Given the description of an element on the screen output the (x, y) to click on. 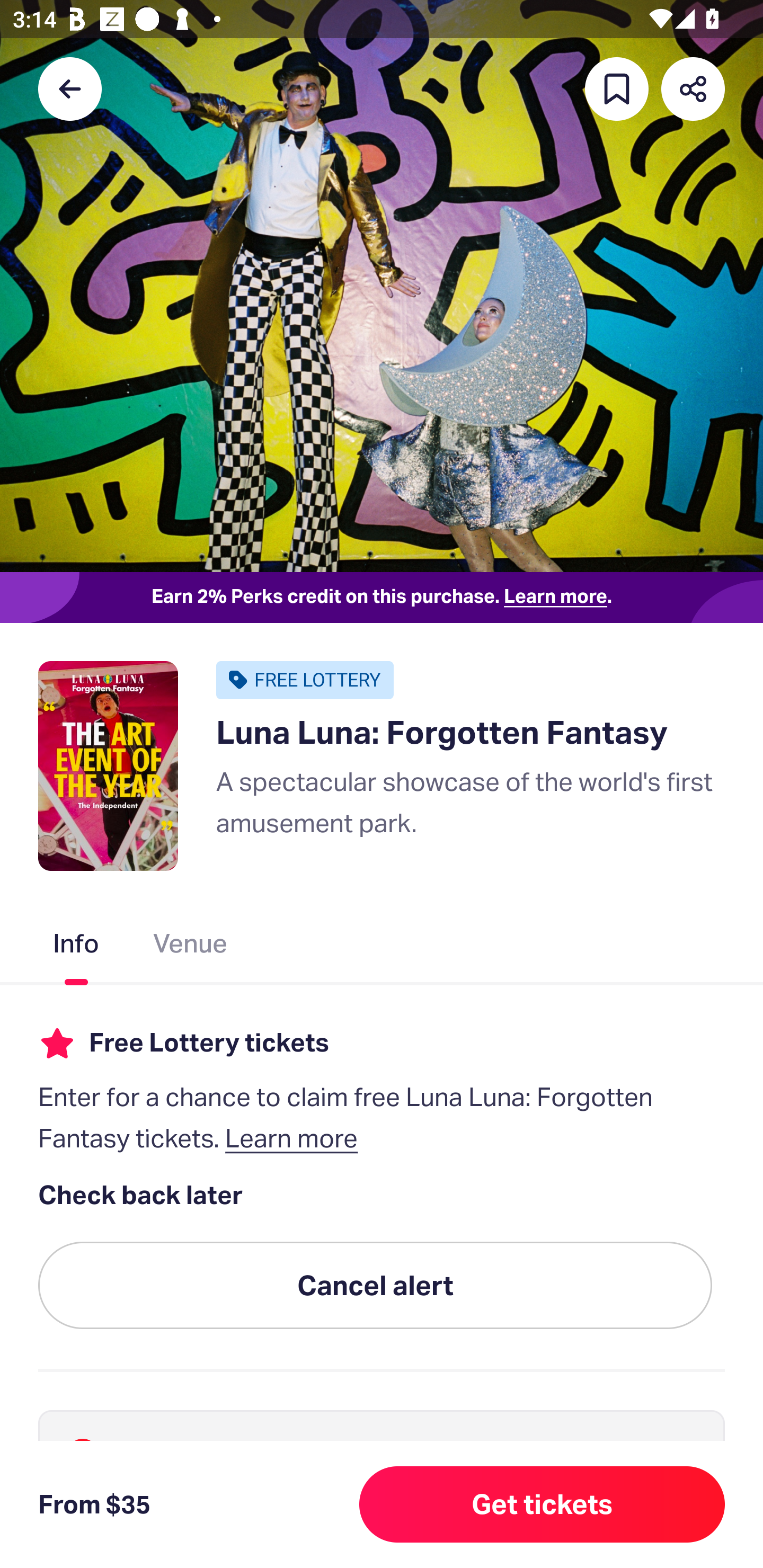
Earn 2% Perks credit on this purchase. Learn more. (381, 597)
Venue (190, 946)
Cancel alert (374, 1286)
Get tickets (541, 1504)
